Given the description of an element on the screen output the (x, y) to click on. 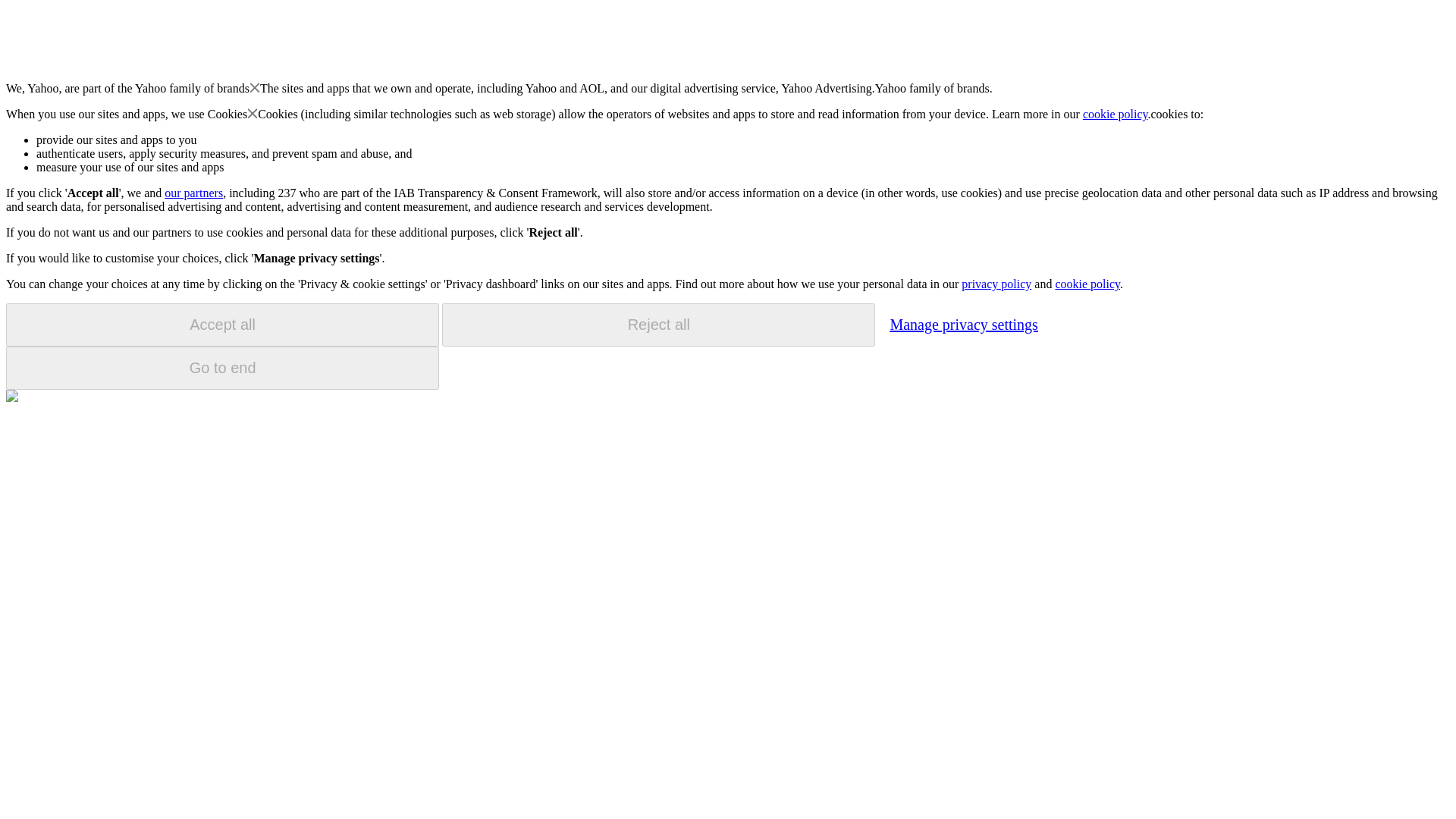
cookie policy (1086, 283)
privacy policy (995, 283)
cookie policy (1115, 113)
Reject all (658, 324)
our partners (193, 192)
Go to end (222, 367)
Manage privacy settings (963, 323)
Accept all (222, 324)
